Given the description of an element on the screen output the (x, y) to click on. 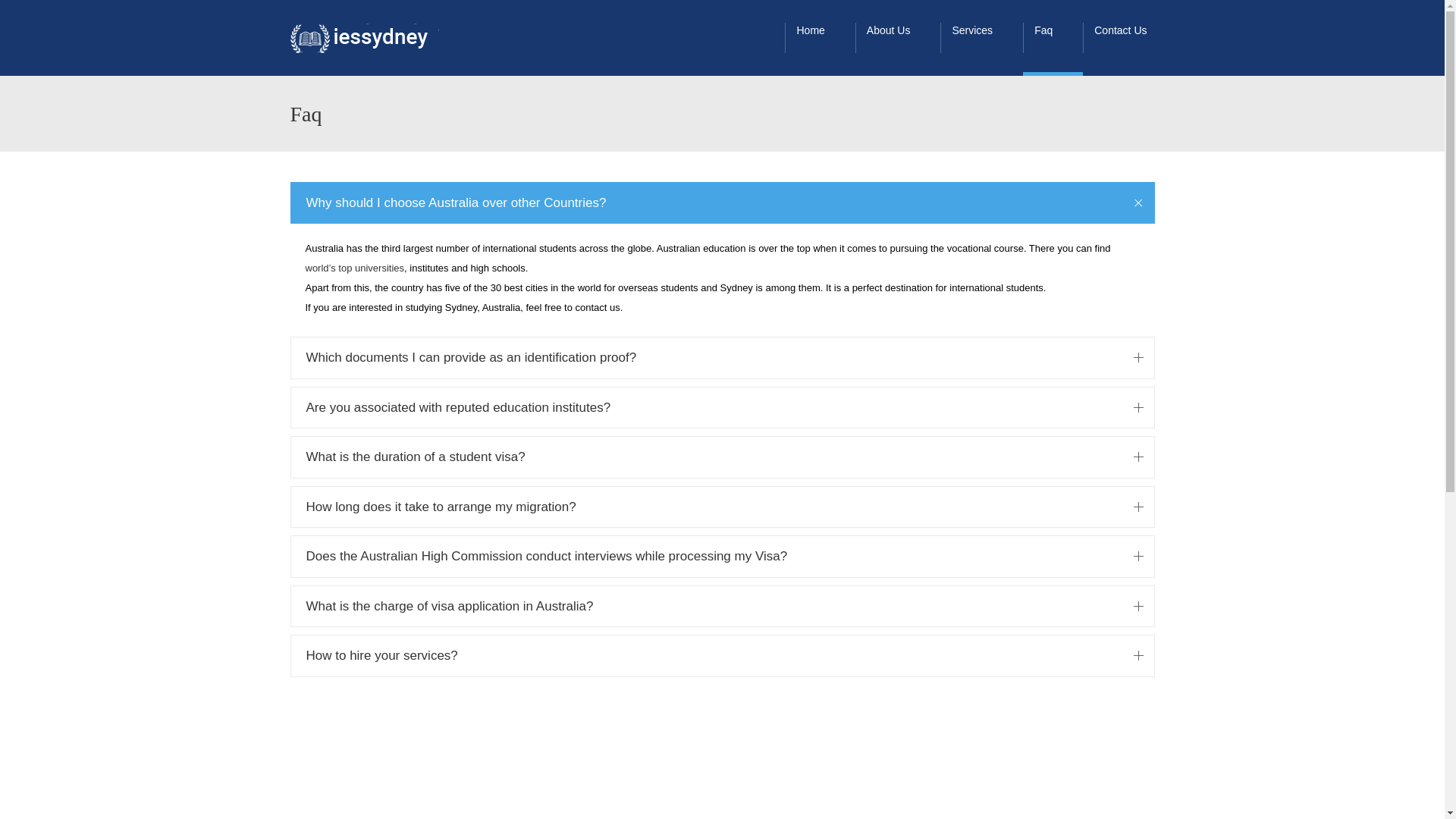
What is the charge of visa application in Australia? Element type: text (722, 606)
How long does it take to arrange my migration? Element type: text (722, 506)
How to hire your services? Element type: text (722, 655)
Services Element type: text (981, 37)
Faq - iessydney Element type: hover (363, 37)
Faq Element type: text (1052, 37)
Home Element type: text (819, 37)
Contact Us Element type: text (1129, 37)
About Us Element type: text (898, 37)
What is the duration of a student visa? Element type: text (722, 456)
Are you associated with reputed education institutes? Element type: text (722, 407)
Why should I choose Australia over other Countries? Element type: text (722, 202)
Which documents I can provide as an identification proof? Element type: text (722, 357)
